Given the description of an element on the screen output the (x, y) to click on. 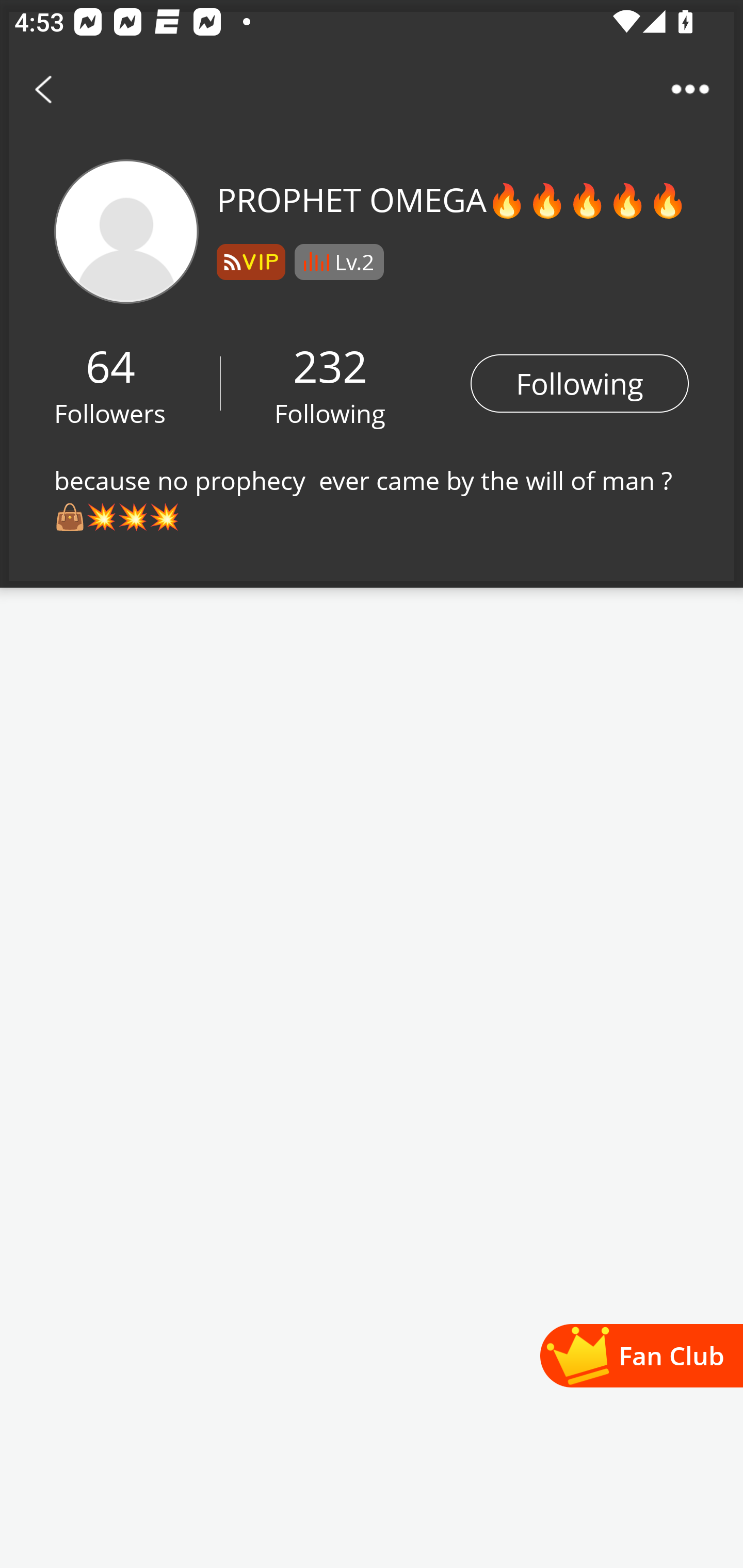
64 (110, 365)
232 (329, 365)
Following (579, 383)
Followers (110, 413)
Following (329, 413)
Fan Club (641, 1355)
